Given the description of an element on the screen output the (x, y) to click on. 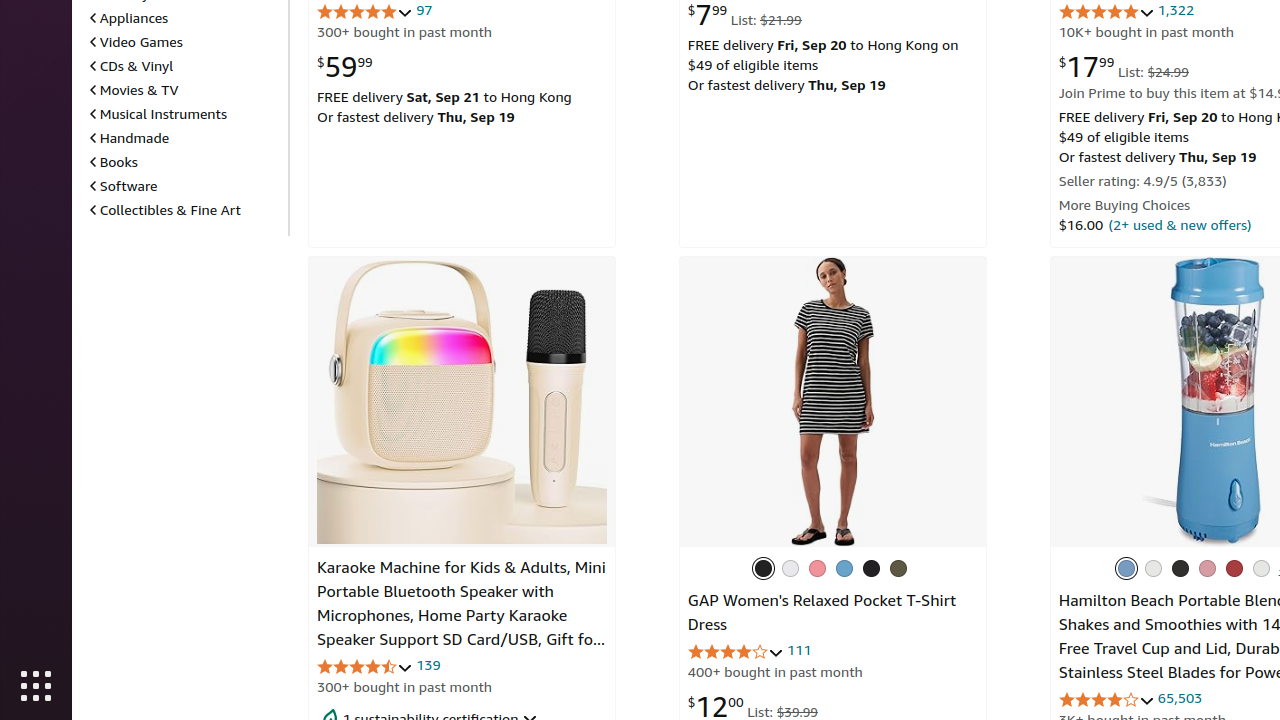
$17.99 List: $24.99 Element type: link (1123, 65)
4.7 out of 5 stars Element type: push-button (365, 666)
Walden Green Element type: push-button (898, 568)
Appliances Element type: link (129, 17)
97 Element type: link (424, 10)
